Given the description of an element on the screen output the (x, y) to click on. 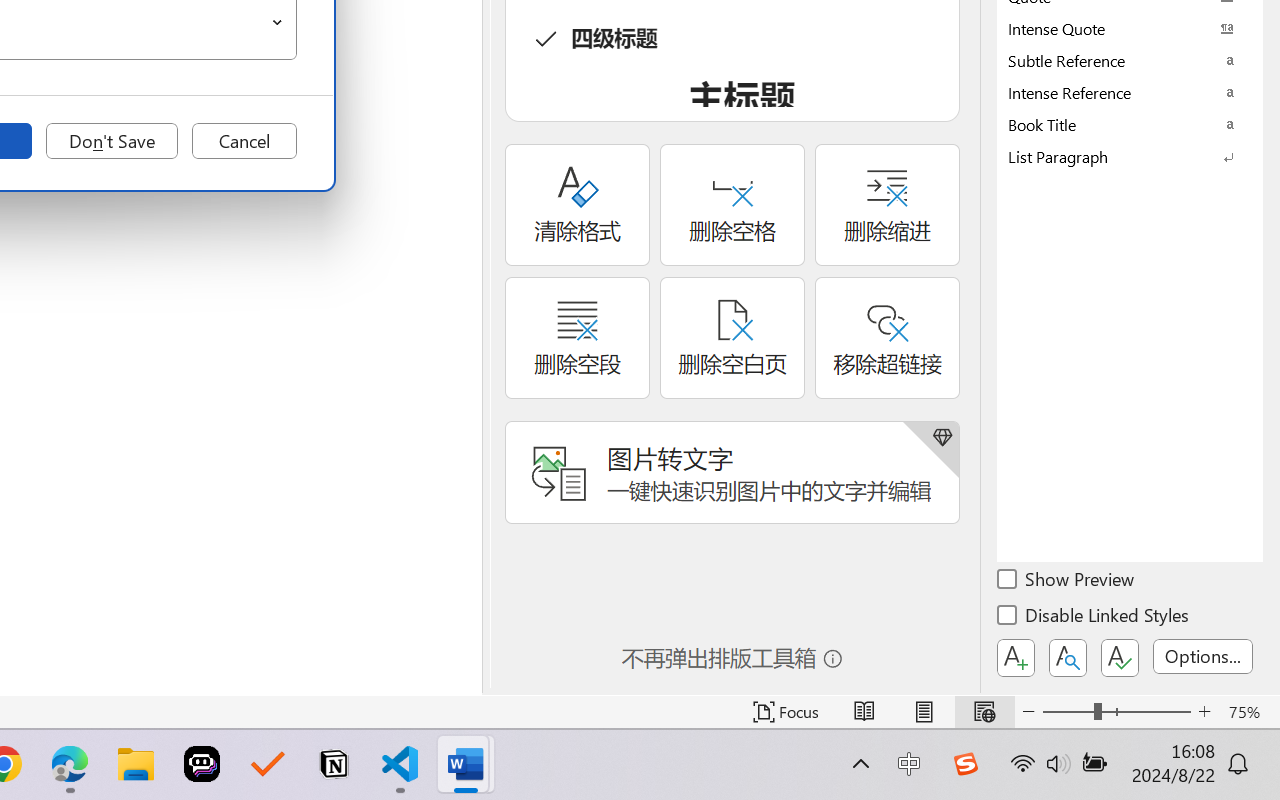
Subtle Reference (1130, 60)
Web Layout (984, 712)
Class: Image (965, 764)
Zoom Out (1067, 712)
Book Title (1130, 124)
Cancel (244, 141)
